Given the description of an element on the screen output the (x, y) to click on. 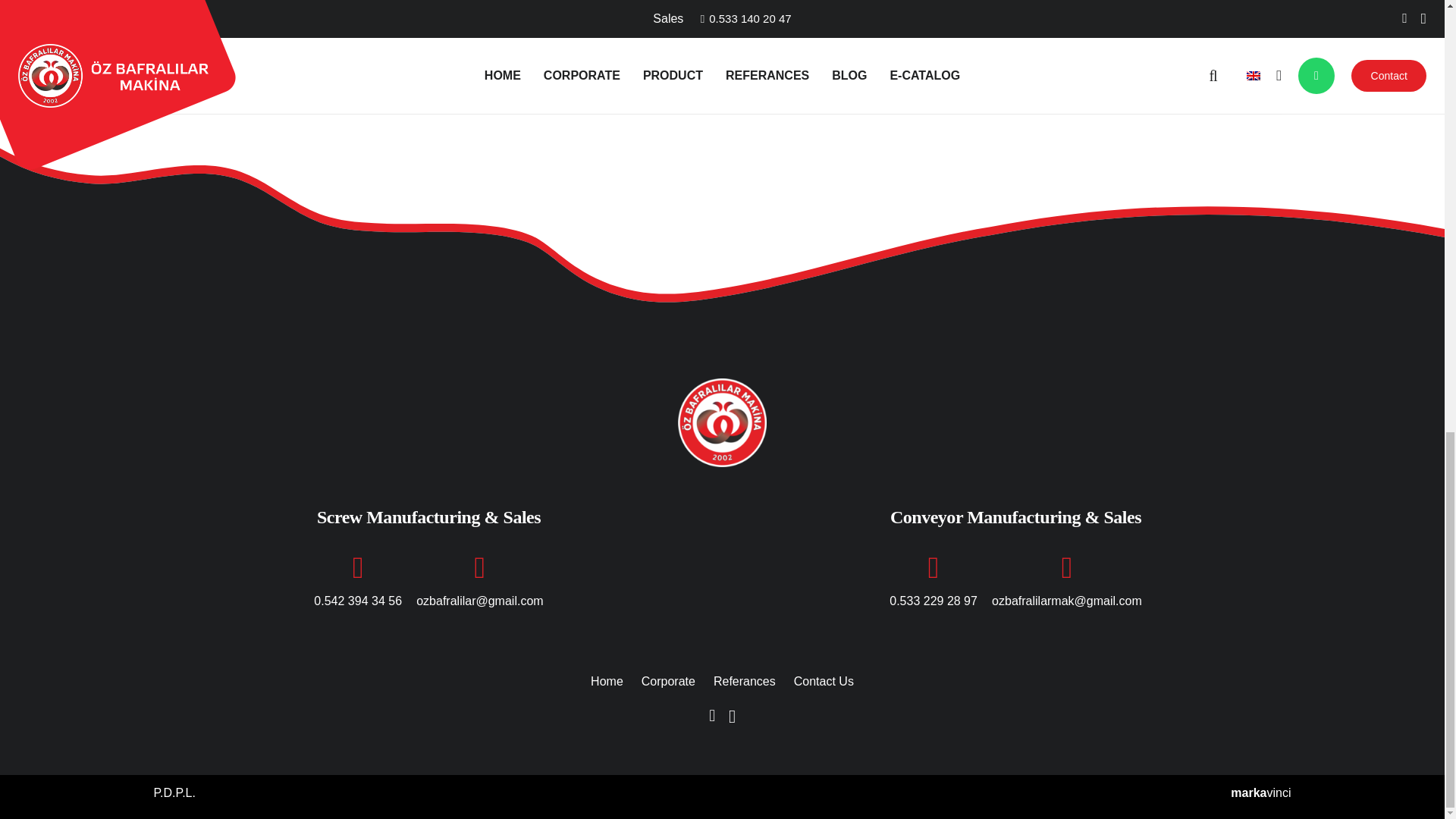
0.542 394 34 56 (357, 601)
Home (607, 680)
Referances (744, 680)
Contact Us (823, 680)
Corporate (668, 680)
0.533 229 28 97 (932, 601)
